Given the description of an element on the screen output the (x, y) to click on. 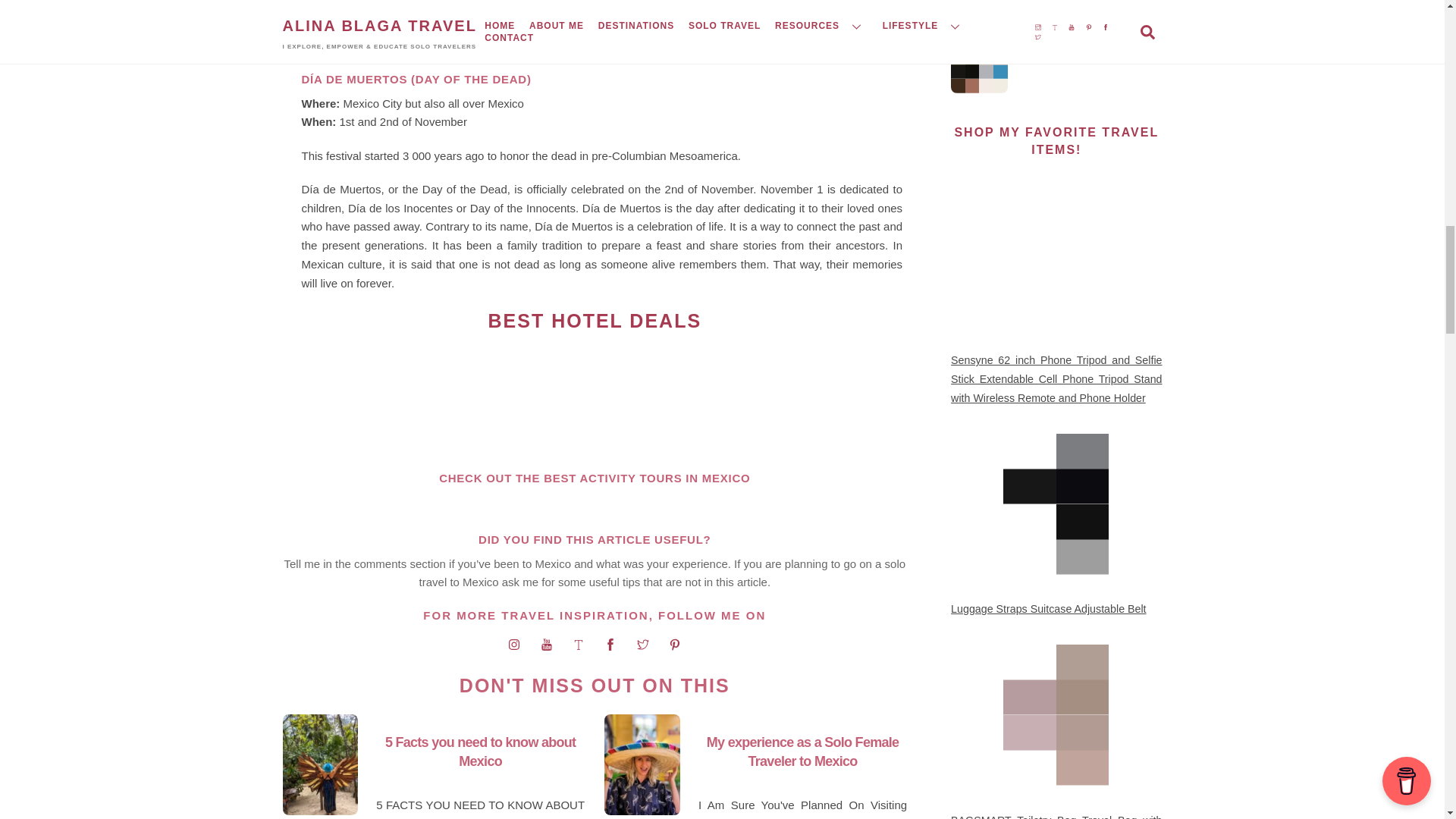
Alina Blaga Travel YouTube (546, 644)
Alina Blaga Travel Pinterest (674, 644)
Alina Blaga Travel Facebook Page (610, 644)
Alina Blaga Travel Instagram (514, 644)
My experience as a Solo Female Traveler to Mexico (802, 751)
5 Facts you need to know about Mexico (480, 751)
Alina Blaga Travel Twitter (642, 644)
Alina Blaga Travel TikTok (578, 644)
